Given the description of an element on the screen output the (x, y) to click on. 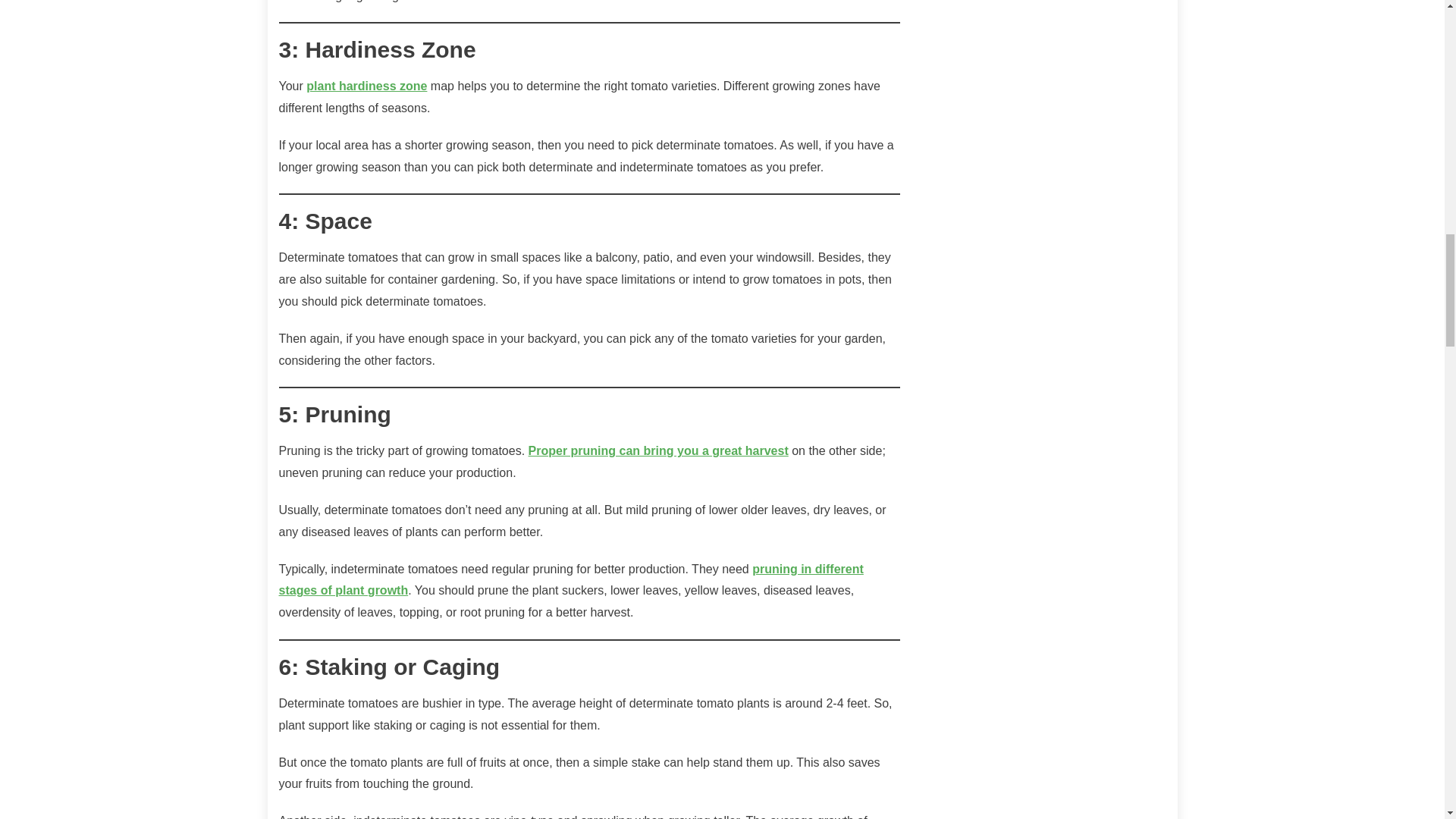
Proper pruning can bring you a great harvest (658, 450)
plant hardiness zone (365, 85)
pruning in different stages of plant growth (571, 579)
